Given the description of an element on the screen output the (x, y) to click on. 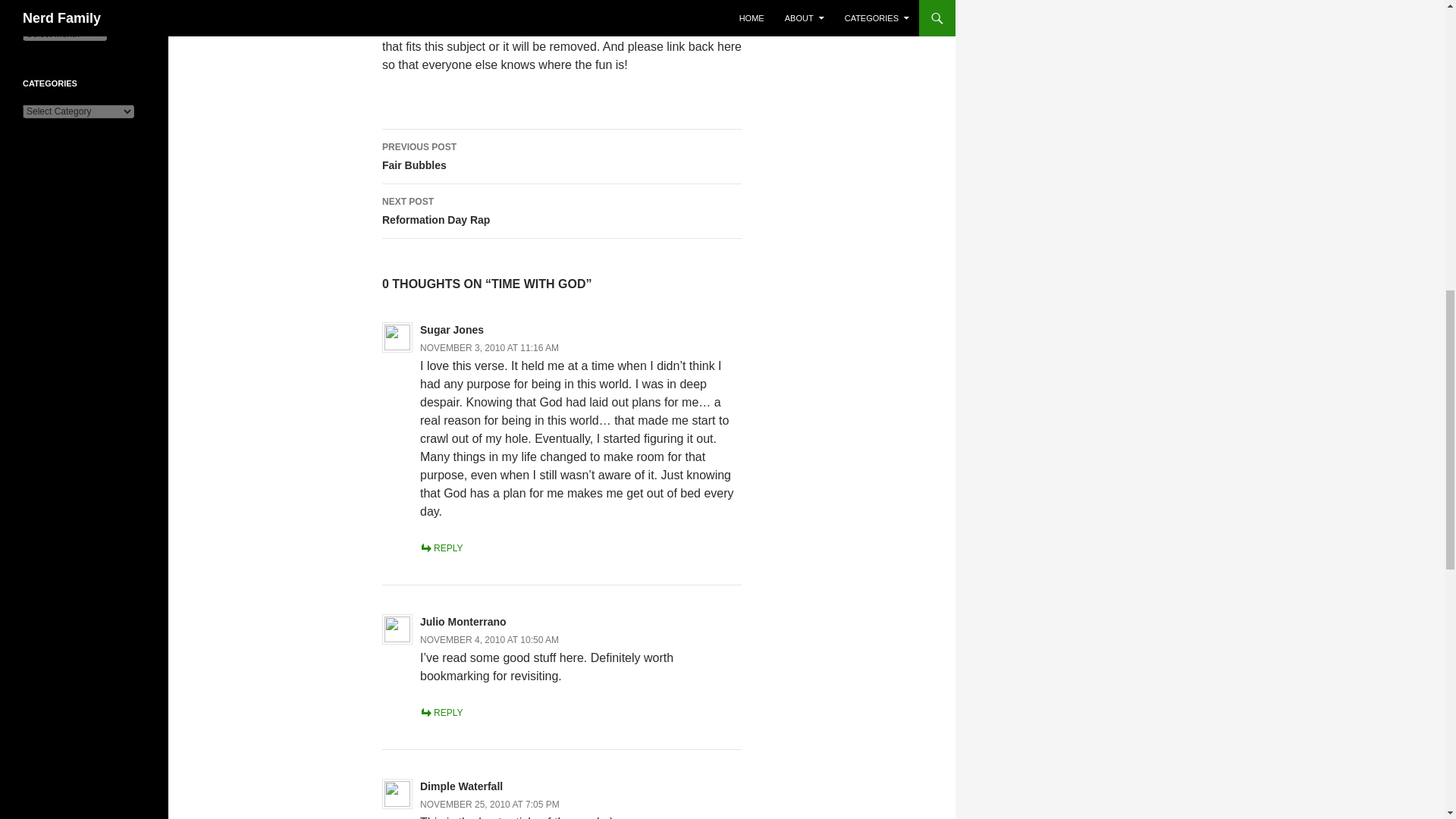
REPLY (441, 547)
NOVEMBER 3, 2010 AT 11:16 AM (561, 156)
NOVEMBER 4, 2010 AT 10:50 AM (489, 347)
Dimple Waterfall (489, 639)
Julio Monterrano (461, 786)
Sugar Jones (463, 621)
REPLY (451, 329)
NOVEMBER 25, 2010 AT 7:05 PM (441, 712)
